Given the description of an element on the screen output the (x, y) to click on. 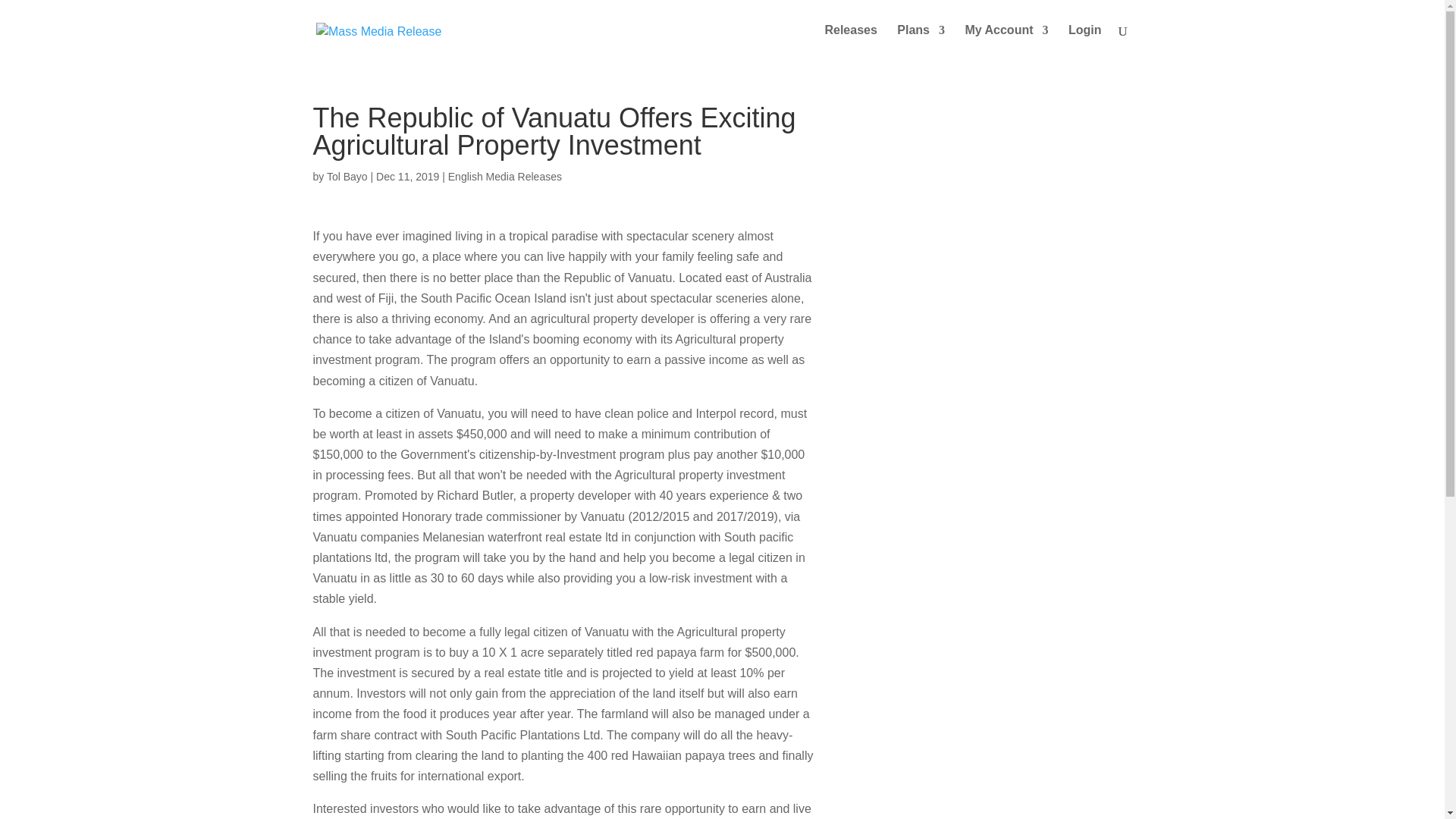
Posts by Tol Bayo (347, 176)
Login (1085, 42)
English Media Releases (505, 176)
Tol Bayo (347, 176)
Plans (920, 42)
My Account (1005, 42)
Releases (850, 42)
